Given the description of an element on the screen output the (x, y) to click on. 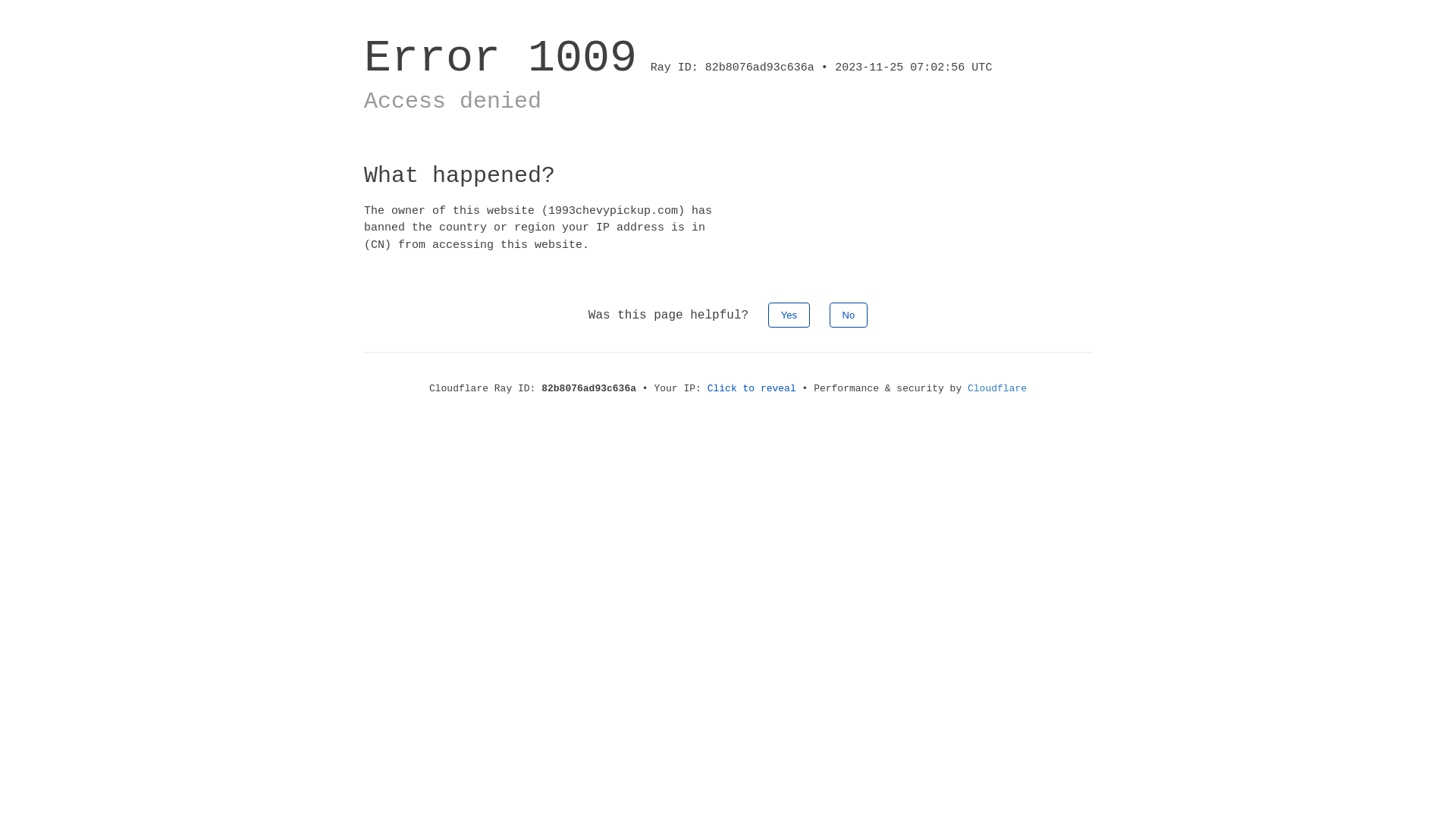
Cloudflare Element type: text (996, 388)
No Element type: text (848, 314)
Click to reveal Element type: text (751, 388)
Yes Element type: text (788, 314)
